Given the description of an element on the screen output the (x, y) to click on. 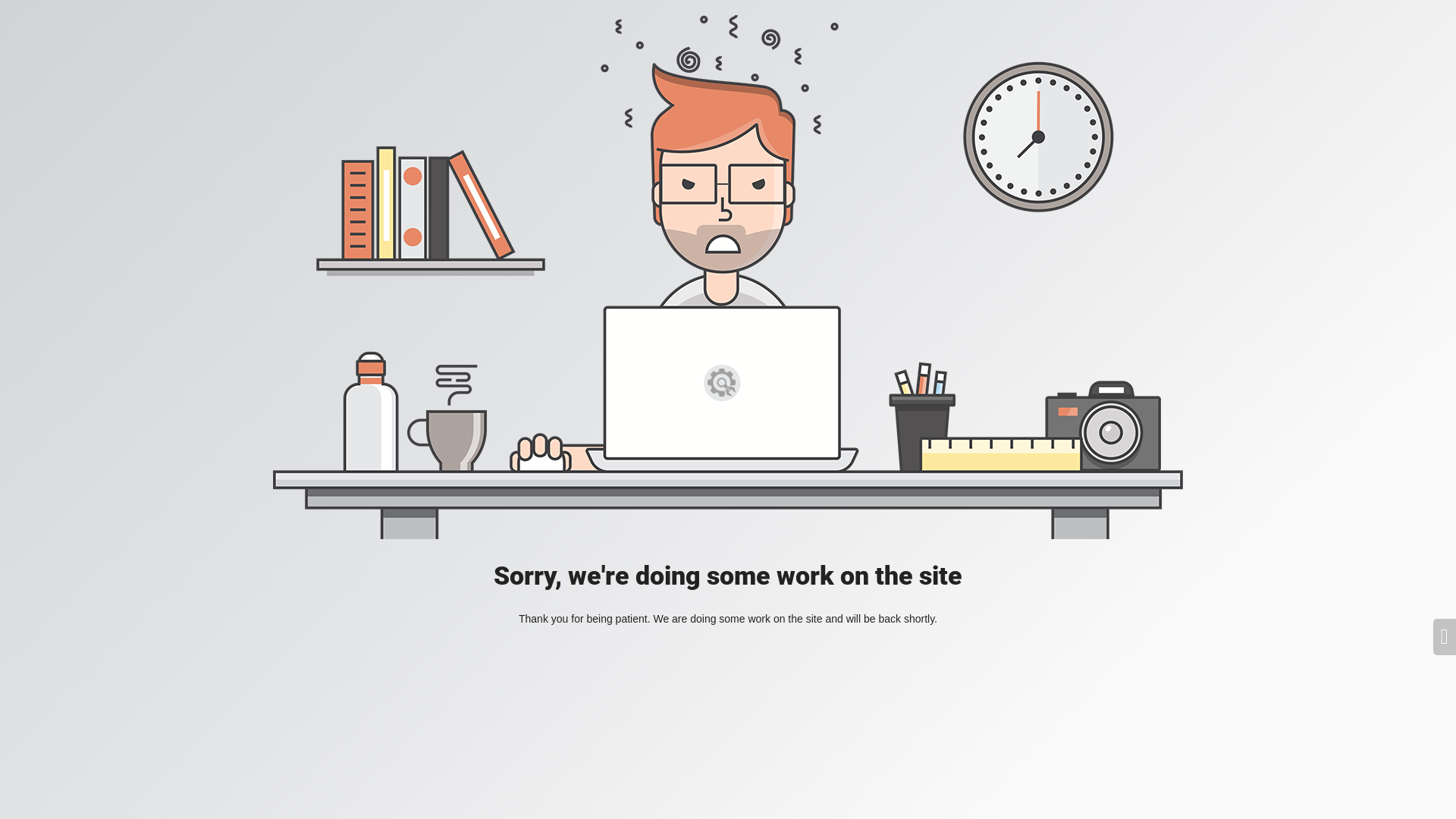
Mad Designer at work Element type: hover (728, 277)
